Given the description of an element on the screen output the (x, y) to click on. 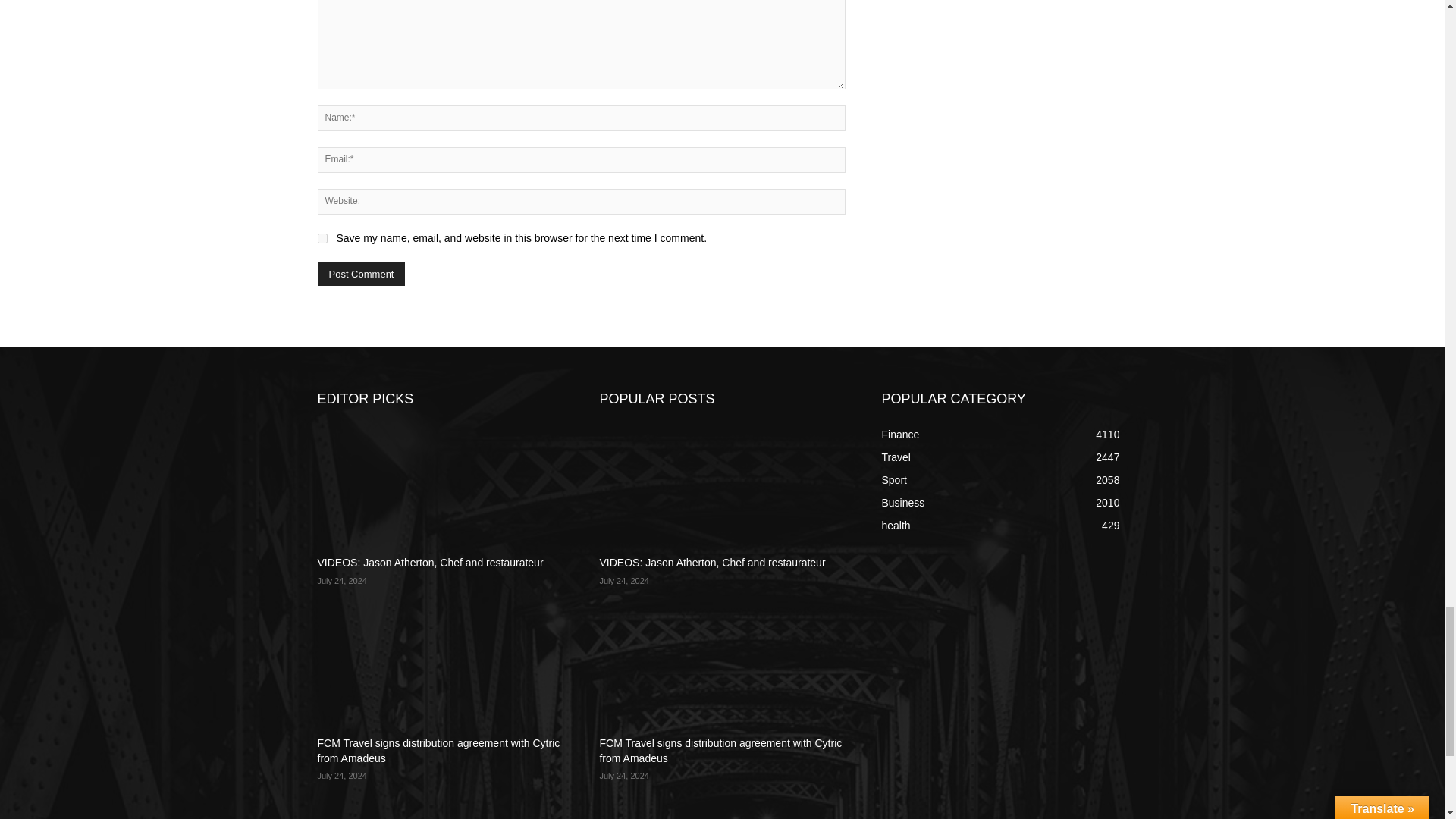
yes (321, 238)
Post Comment (360, 273)
